Given the description of an element on the screen output the (x, y) to click on. 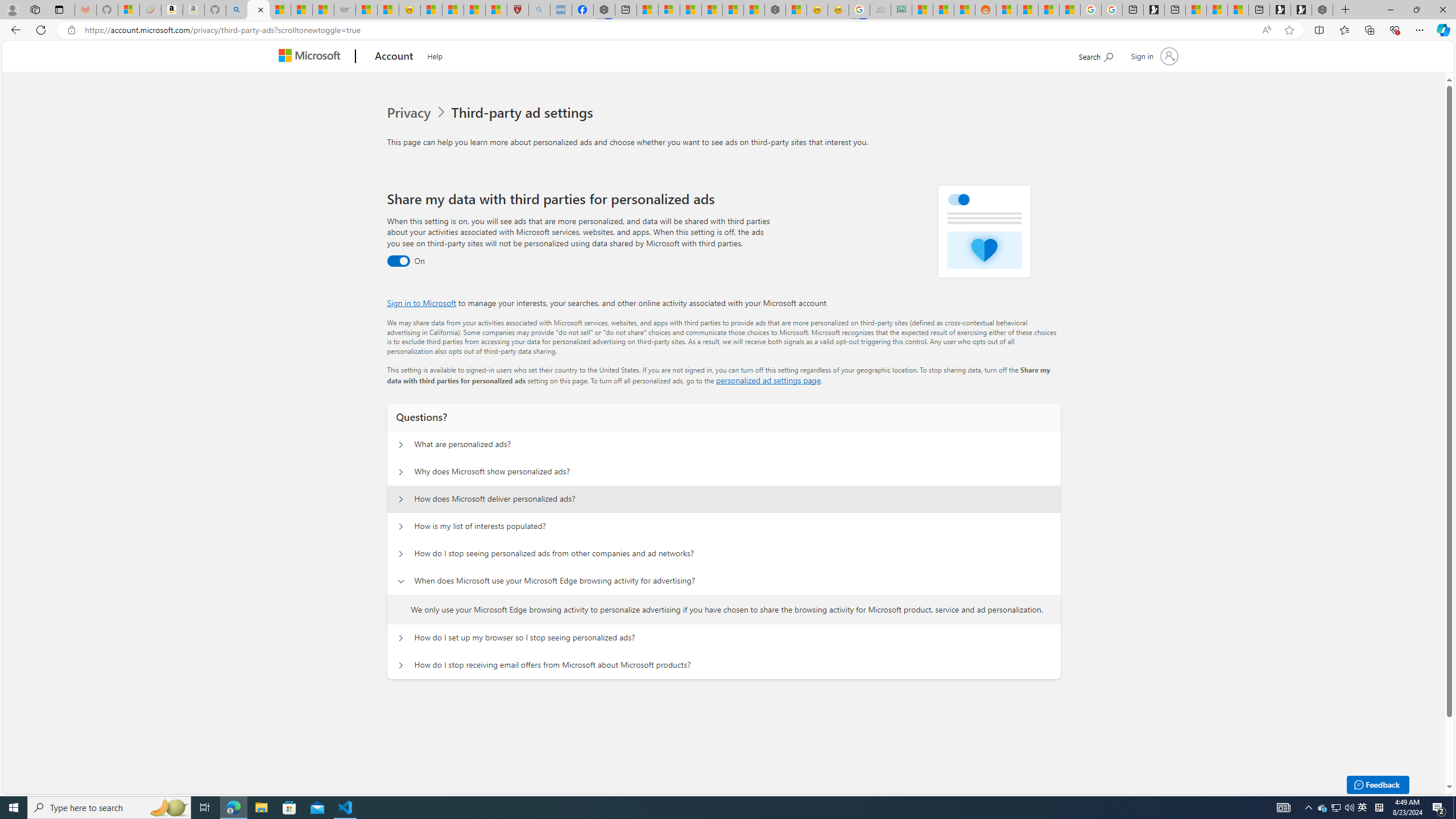
R******* | Trusted Community Engagement and Contributions (1006, 9)
Third party data sharing toggle (398, 260)
